Given the description of an element on the screen output the (x, y) to click on. 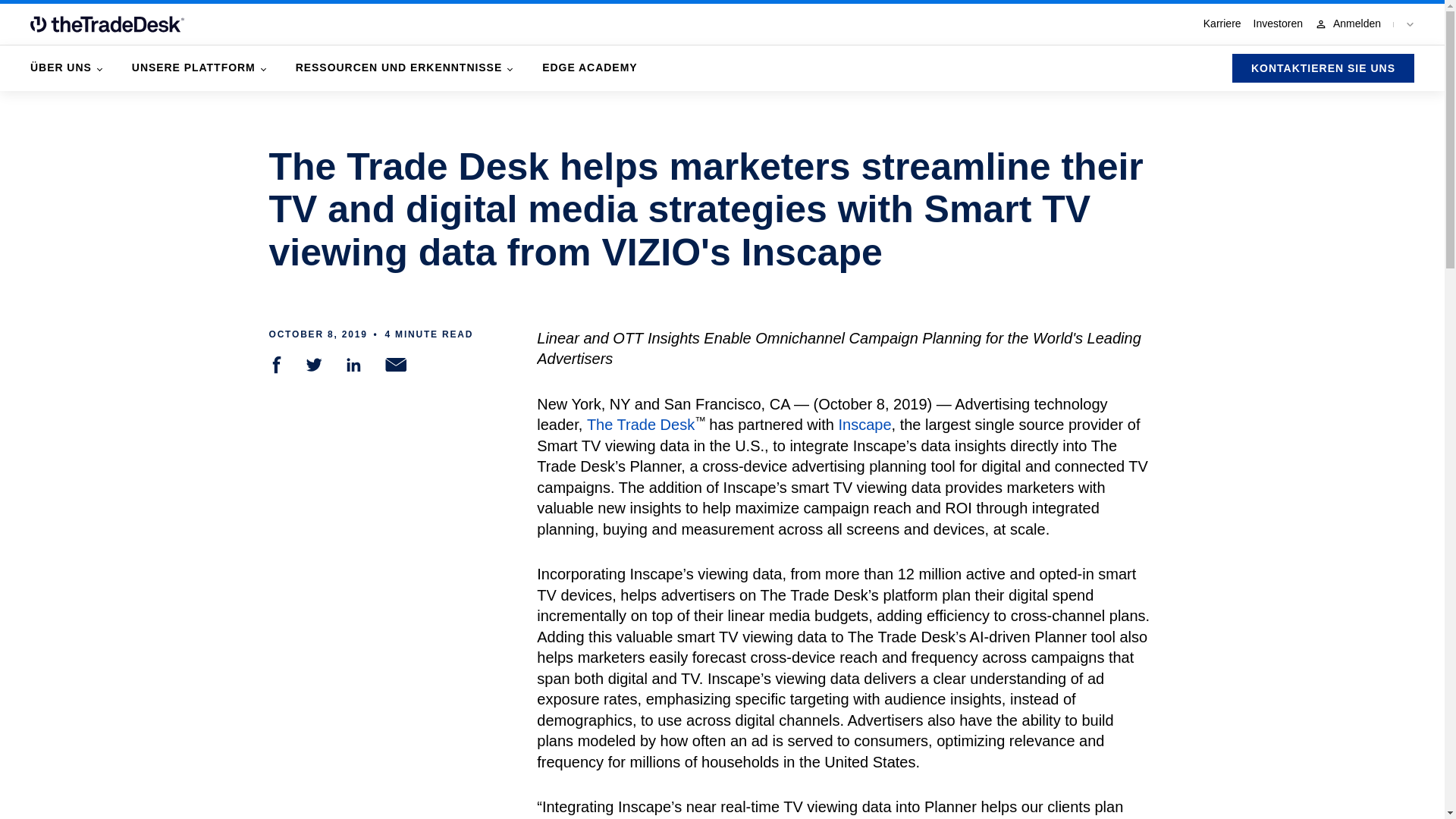
Share on Twitter (314, 364)
EDGE ACADEMY (589, 67)
Share on Email (395, 364)
The Trade Desk (640, 424)
UNSERE PLATTFORM (198, 67)
Inscape (864, 424)
RESSOURCEN UND ERKENNTNISSE (403, 67)
Anmelden (1347, 23)
KONTAKTIEREN SIE UNS (1322, 68)
Investoren (1278, 23)
